Given the description of an element on the screen output the (x, y) to click on. 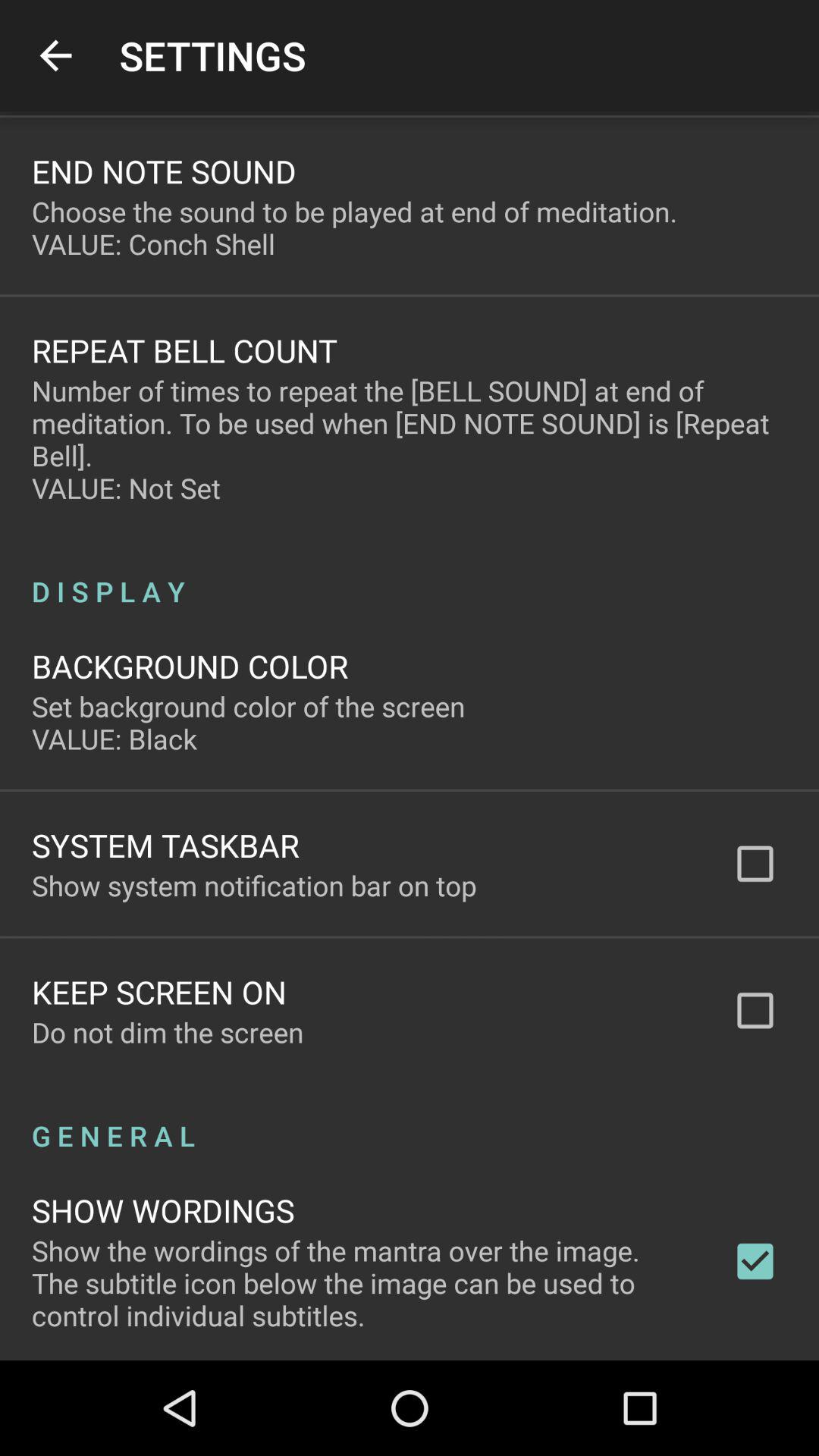
launch icon below set background color item (165, 844)
